Given the description of an element on the screen output the (x, y) to click on. 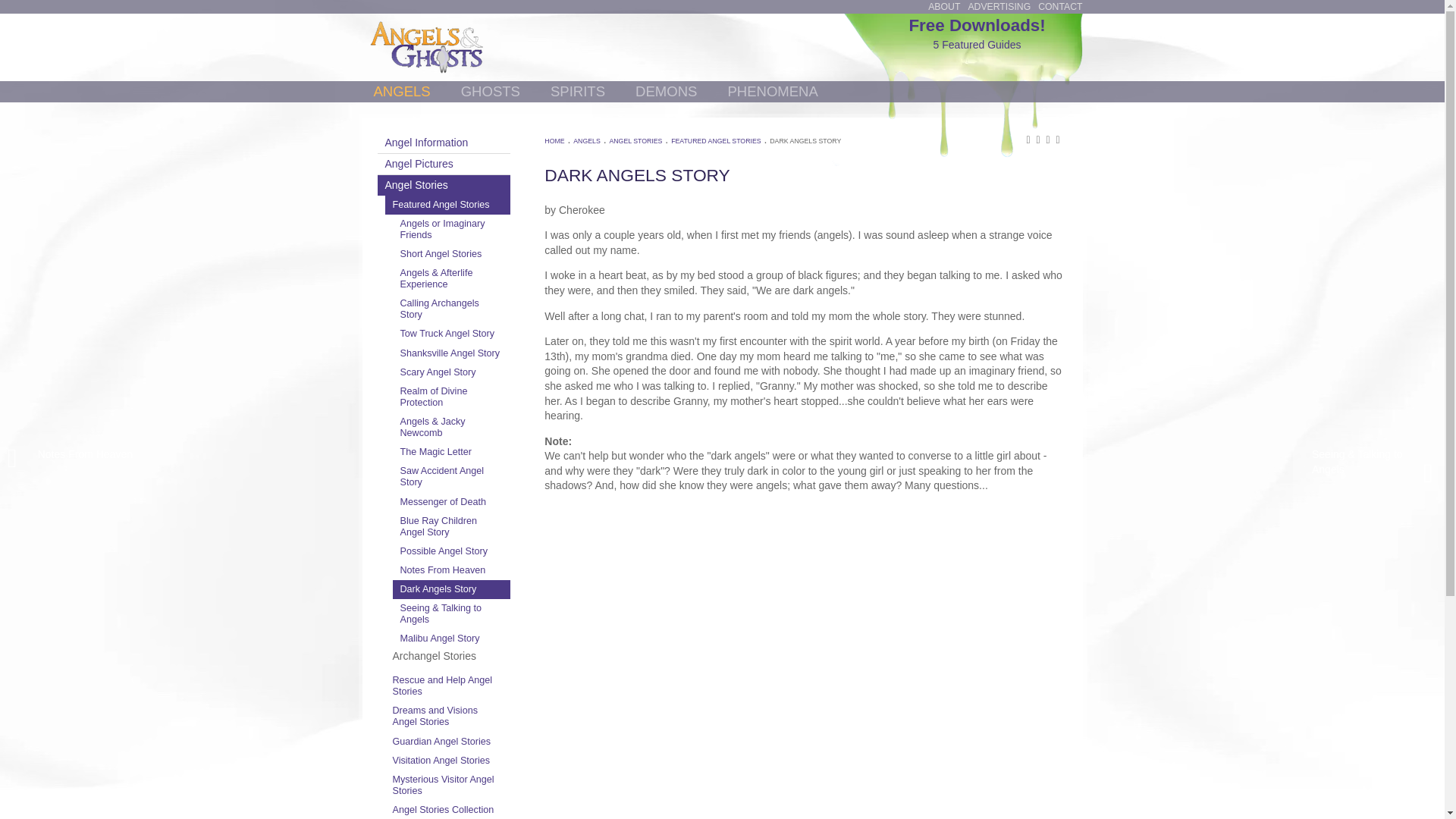
Short Angel Stories (452, 253)
Rescue and Help Angel Stories (448, 685)
ABOUT (943, 6)
SPIRITS (577, 91)
Angel Pictures (444, 163)
Dreams and Visions Angel Stories (448, 716)
ANGELS (401, 91)
Shanksville Angel Story (452, 353)
Angel Information (444, 142)
CONTACT (1059, 6)
